Given the description of an element on the screen output the (x, y) to click on. 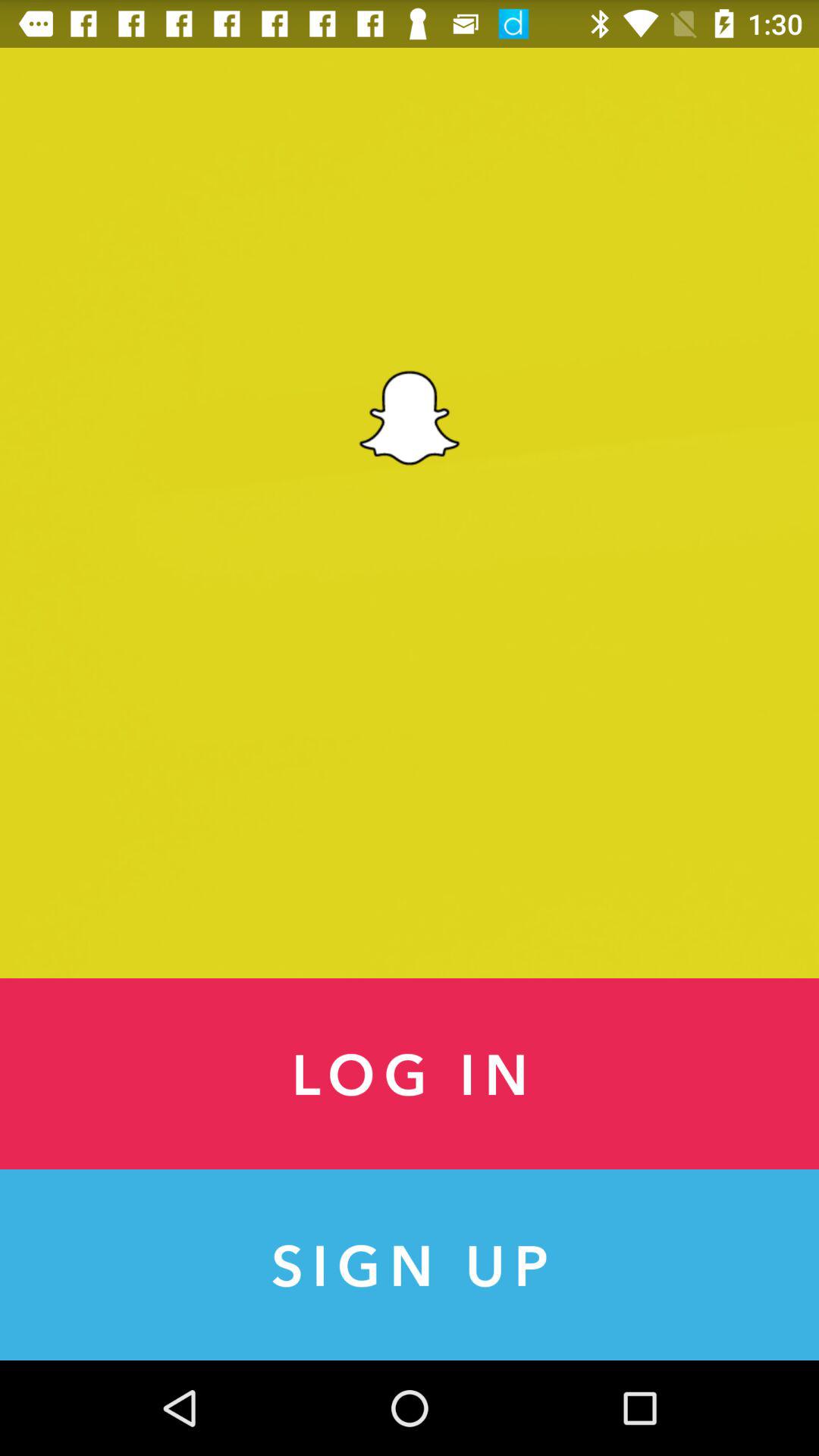
turn on the item above sign up item (409, 1073)
